Given the description of an element on the screen output the (x, y) to click on. 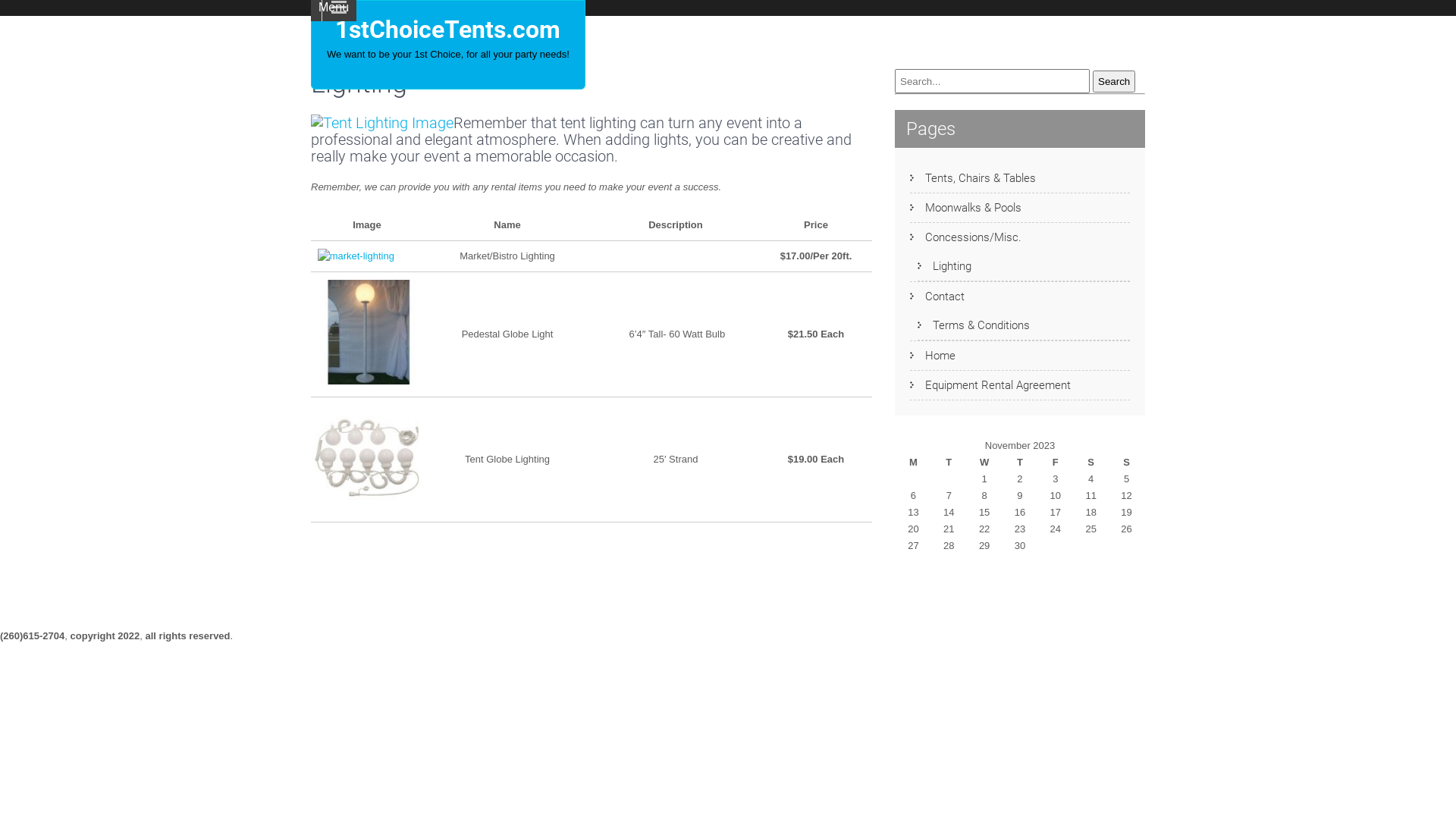
Moonwalks & Pools Element type: text (965, 207)
Lighting Element type: text (944, 265)
Equipment Rental Agreement Element type: text (990, 384)
Concessions/Misc. Element type: text (965, 236)
Contact Element type: text (937, 296)
Tents, Chairs & Tables Element type: text (972, 177)
Search Element type: text (1113, 80)
Home Element type: text (932, 355)
Terms & Conditions Element type: text (973, 324)
